Given the description of an element on the screen output the (x, y) to click on. 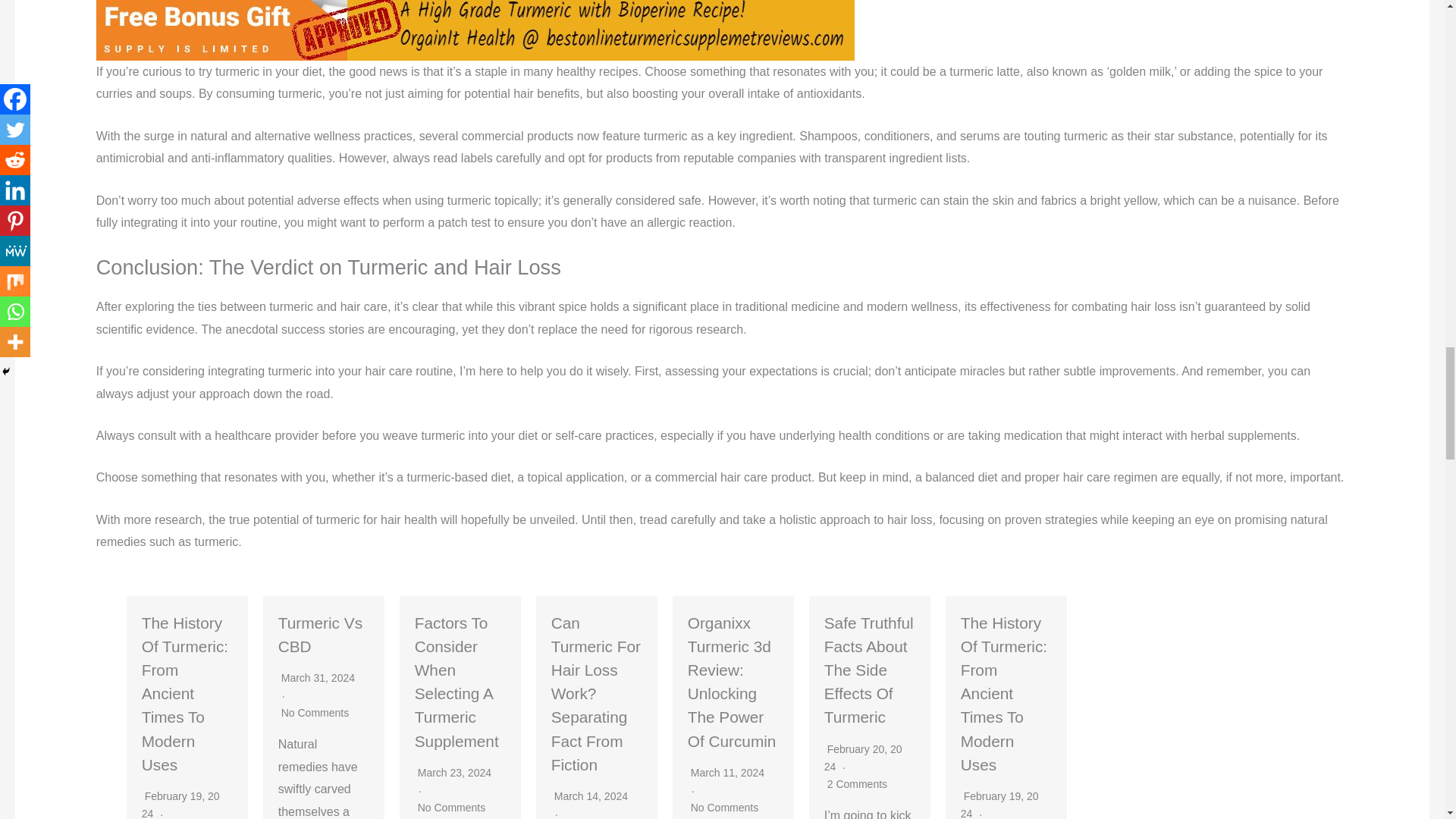
The History Of Turmeric: From Ancient Times To Modern Uses (184, 693)
